Given the description of an element on the screen output the (x, y) to click on. 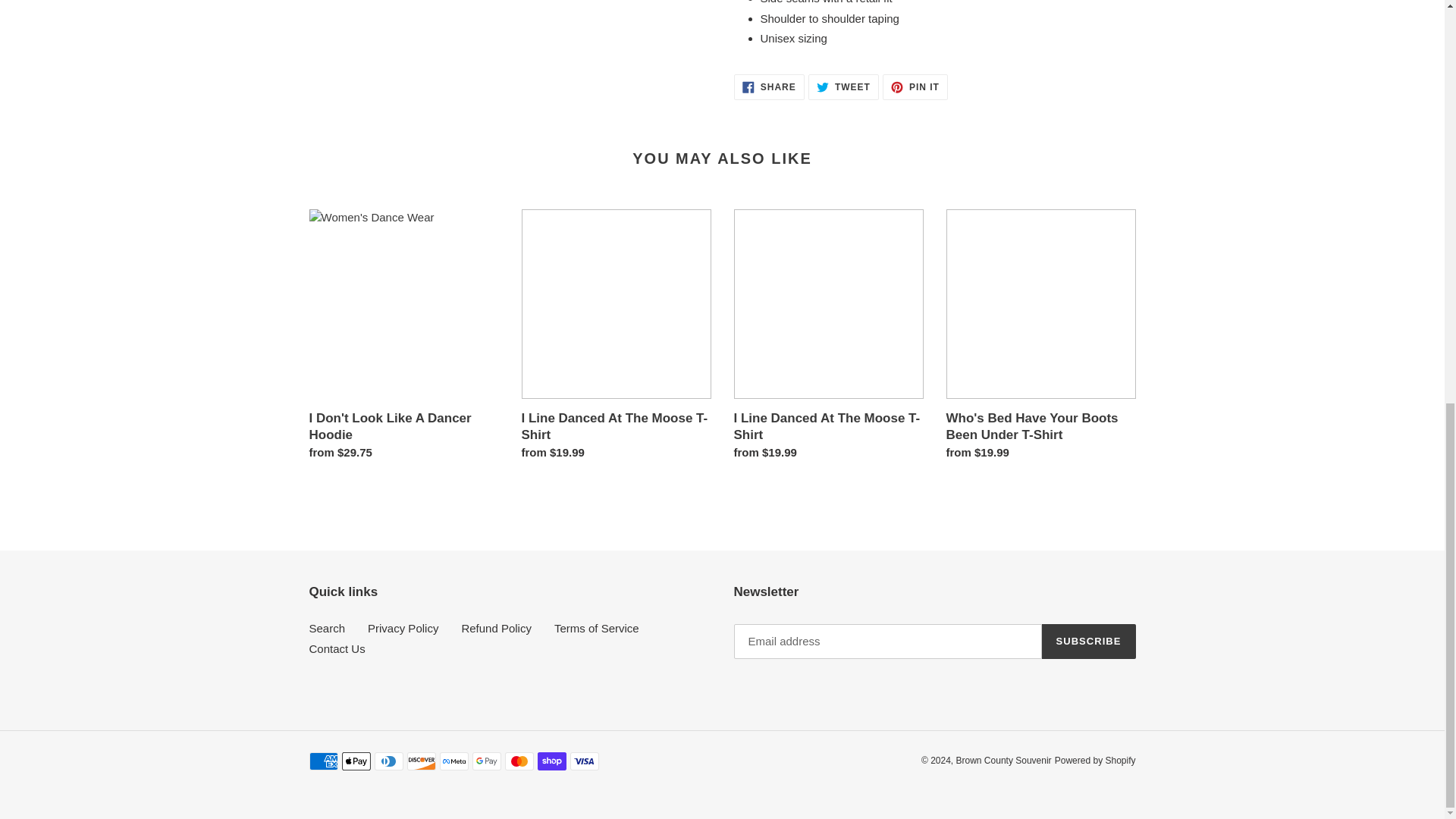
I Line Danced At The Moose T-Shirt (843, 86)
I Line Danced At The Moose T-Shirt (828, 338)
Search (616, 338)
Who's Bed Have Your Boots Been Under T-Shirt (327, 627)
I Don't Look Like A Dancer Hoodie (1040, 338)
